Given the description of an element on the screen output the (x, y) to click on. 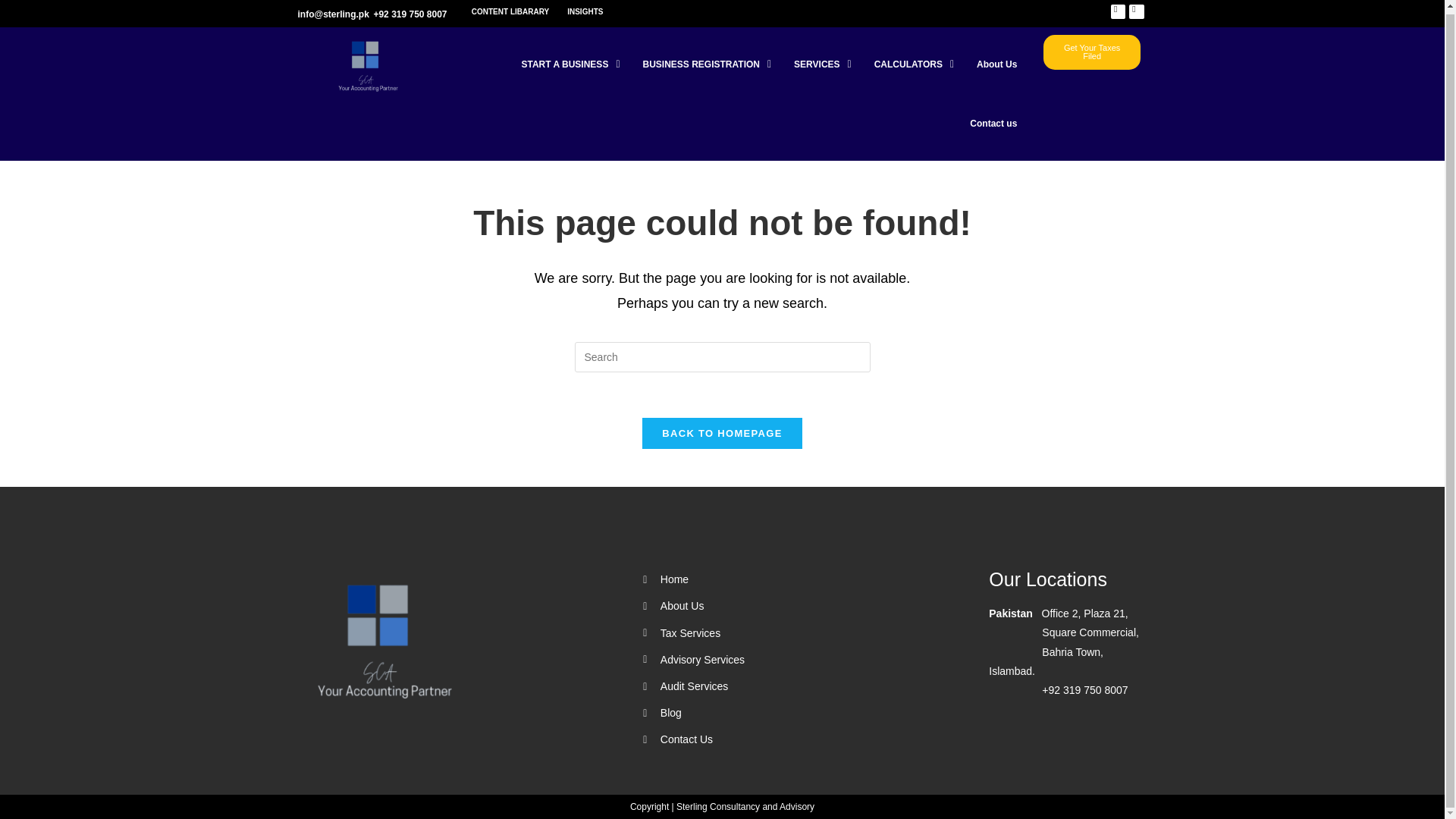
INSIGHTS (584, 11)
CONTENT LIBARARY (510, 11)
BUSINESS REGISTRATION (707, 64)
START A BUSINESS (569, 64)
SERVICES (823, 64)
CALCULATORS (914, 64)
